Given the description of an element on the screen output the (x, y) to click on. 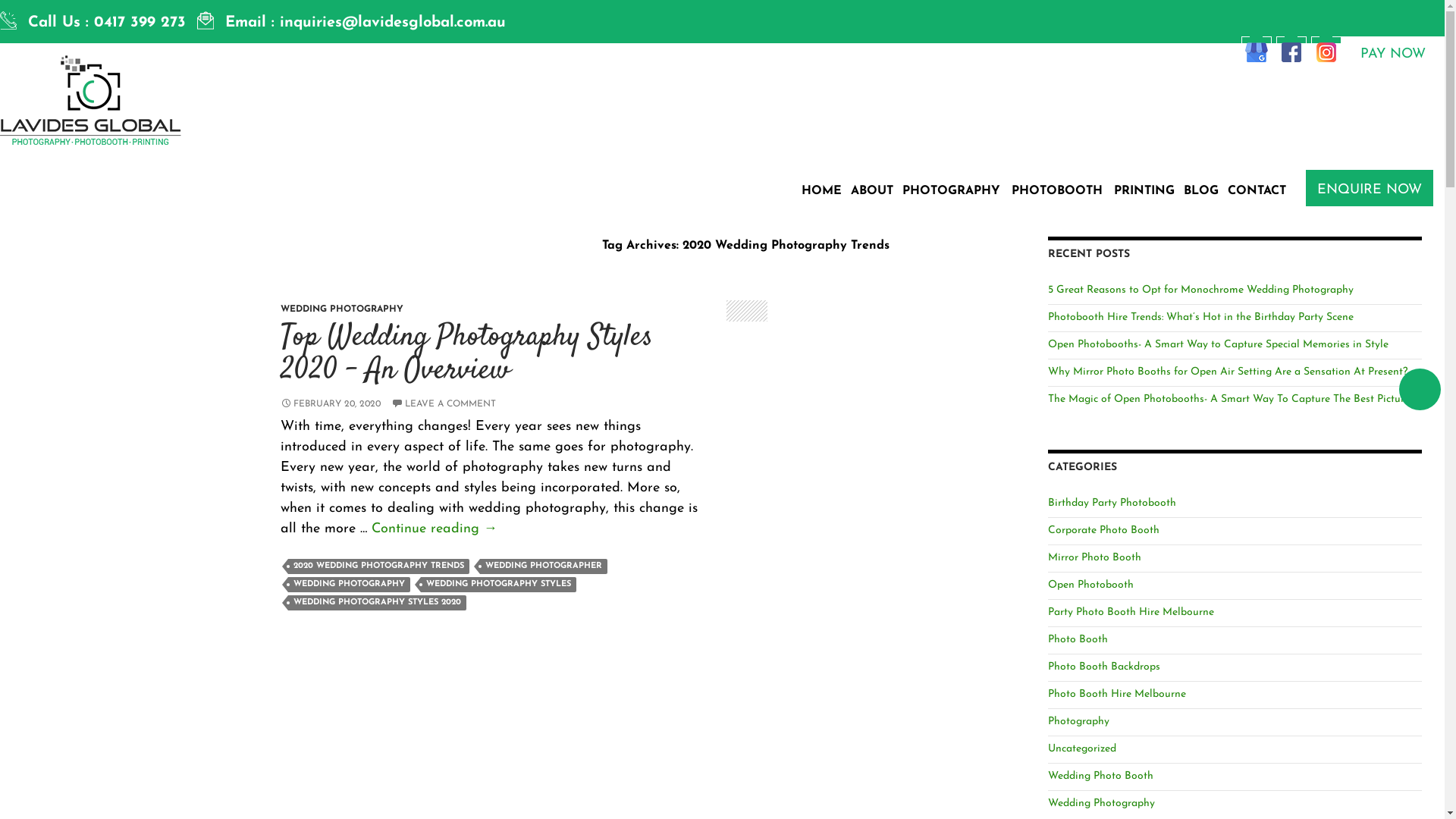
Photography Element type: text (1078, 721)
PRINTING Element type: text (1143, 190)
WEDDING PHOTOGRAPHER Element type: text (543, 566)
Open Photobooth Element type: text (1090, 584)
Mirror Photo Booth Element type: text (1094, 557)
2020 WEDDING PHOTOGRAPHY TRENDS Element type: text (378, 566)
Photo Booth Hire Melbourne Element type: text (1117, 693)
5 Great Reasons to Opt for Monochrome Wedding Photography Element type: text (1200, 289)
ABOUT Element type: text (871, 190)
LEAVE A COMMENT Element type: text (443, 403)
SKIP TO CONTENT Element type: text (799, 144)
Photo Booth Element type: text (1077, 639)
Party Photo Booth Hire Melbourne Element type: text (1131, 612)
PAY NOW Element type: text (1392, 52)
Wedding Photo Booth Element type: text (1100, 775)
WEDDING PHOTOGRAPHY STYLES 2020 Element type: text (377, 602)
inquiries@lavidesglobal.com.au Element type: text (392, 22)
BLOG Element type: text (1200, 190)
PHOTOGRAPHY Element type: text (952, 190)
0417 399 273 Element type: text (139, 22)
Uncategorized Element type: text (1082, 748)
WEDDING PHOTOGRAPHY STYLES Element type: text (498, 584)
Photo Booth Backdrops Element type: text (1104, 666)
Corporate Photo Booth Element type: text (1103, 530)
ENQUIRE NOW Element type: text (1369, 187)
Birthday Party Photobooth Element type: text (1112, 502)
FEBRUARY 20, 2020 Element type: text (330, 403)
WEDDING PHOTOGRAPHY Element type: text (341, 308)
CONTACT Element type: text (1256, 190)
Wedding Photography Element type: text (1101, 803)
PHOTOBOOTH Element type: text (1057, 190)
WEDDING PHOTOGRAPHY Element type: text (349, 584)
HOME Element type: text (821, 190)
